Given the description of an element on the screen output the (x, y) to click on. 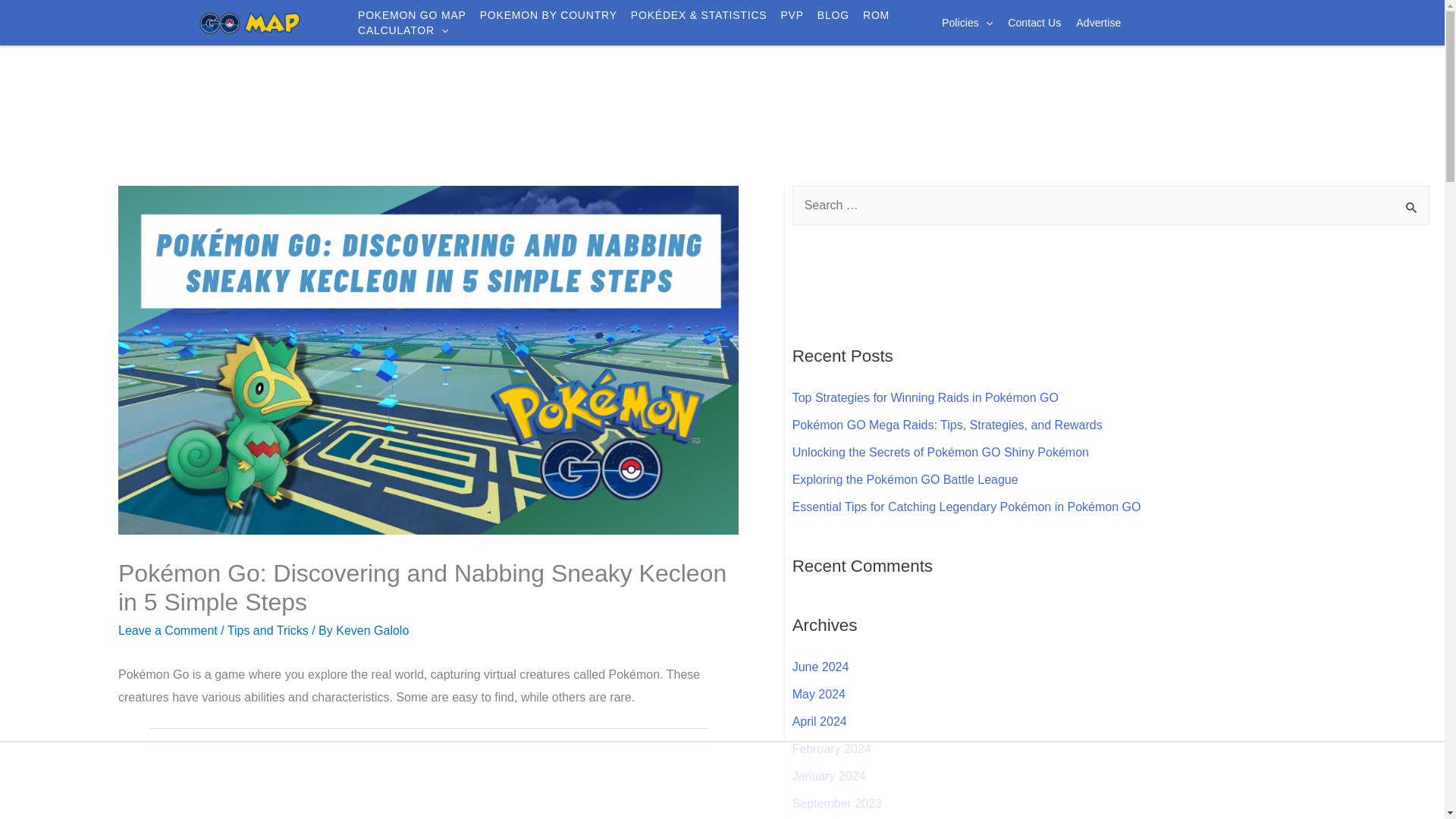
Contact Us (1034, 22)
CALCULATOR (403, 29)
POKEMON GO MAP (411, 14)
Search (1411, 206)
ROM (876, 14)
PVP (791, 14)
Search (1411, 206)
Advertise (1098, 22)
Policies (967, 22)
View all posts by Keven Galolo (372, 630)
BLOG (832, 14)
POKEMON BY COUNTRY (548, 14)
